Given the description of an element on the screen output the (x, y) to click on. 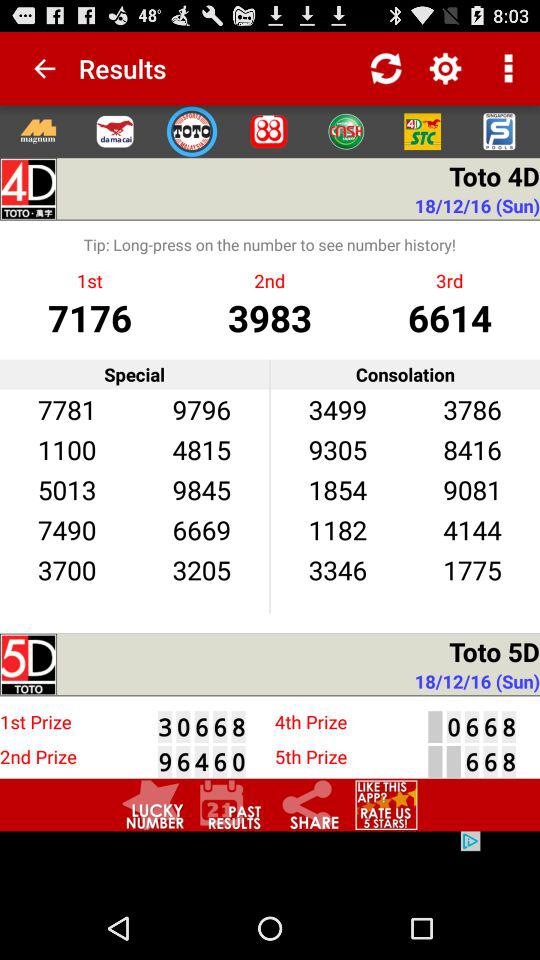
play game with horse icon (114, 131)
